Given the description of an element on the screen output the (x, y) to click on. 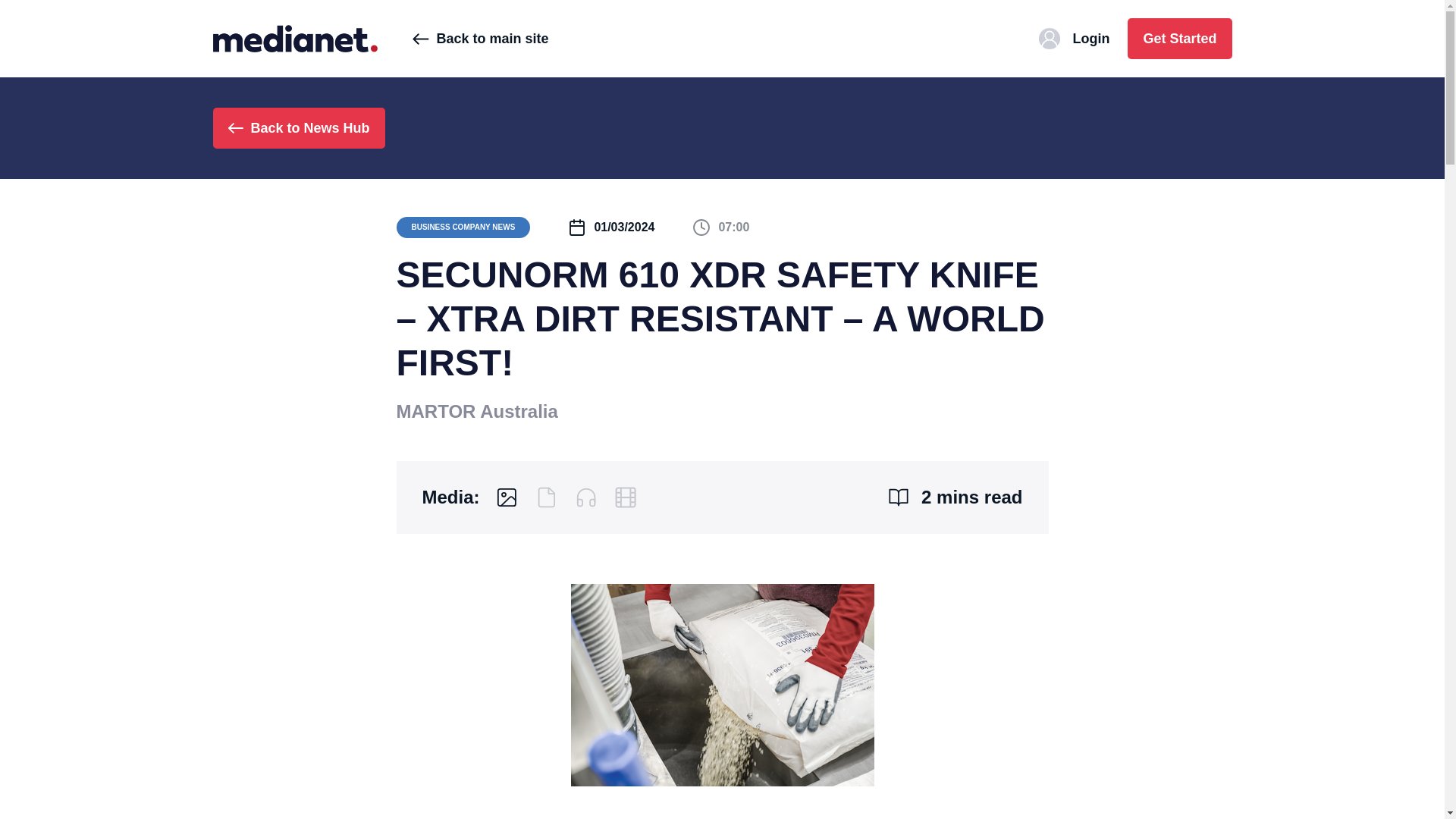
No video attachments (624, 497)
Login (1074, 38)
Back to main site (480, 38)
Get Started (1178, 38)
News Hub (294, 38)
Back to News Hub (298, 127)
Scroll to images (507, 497)
No audio attachments (585, 497)
No file attachments (546, 497)
